Given the description of an element on the screen output the (x, y) to click on. 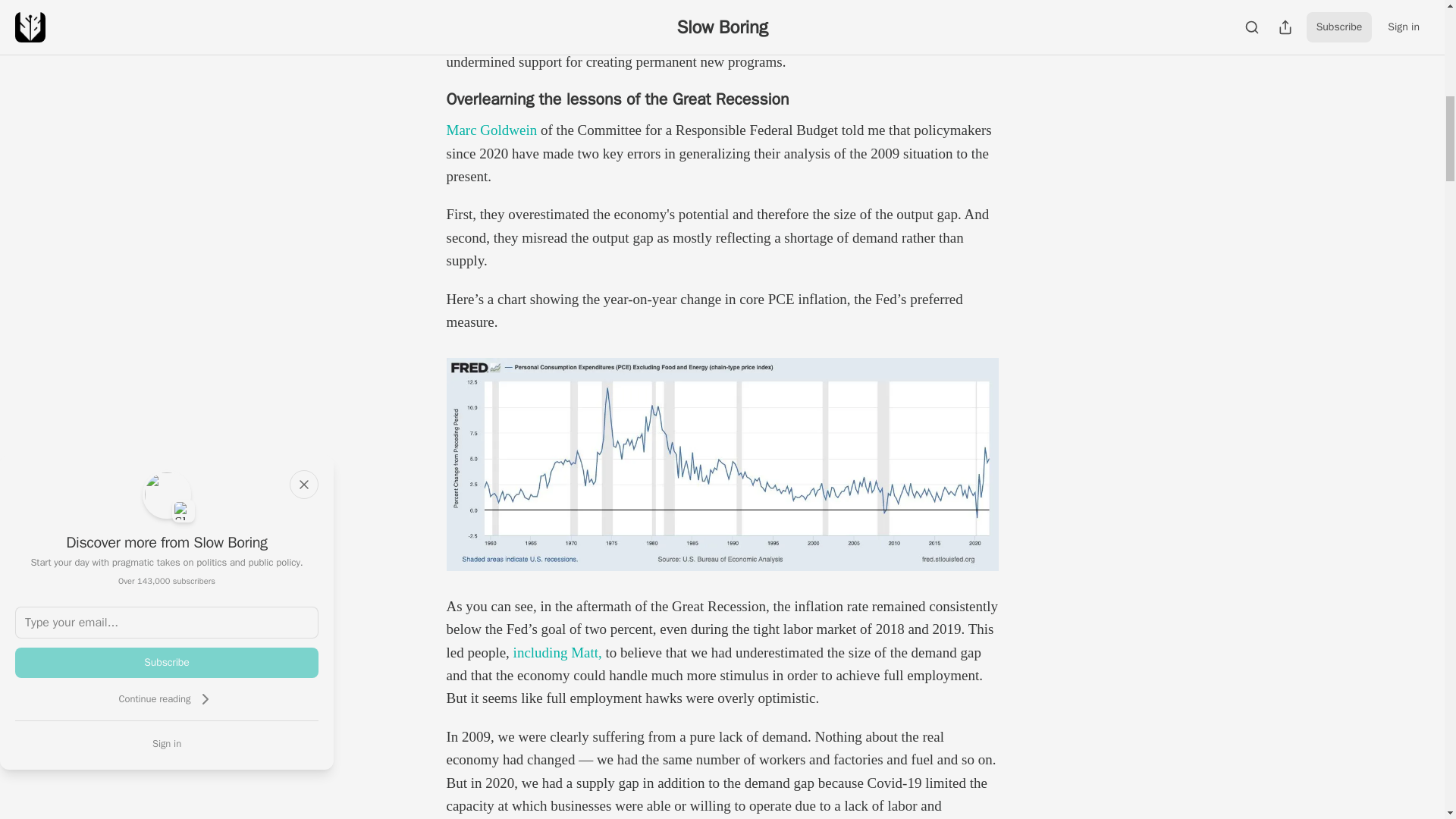
Sign in (166, 743)
Marc Goldwein (491, 130)
Subscribe (166, 662)
including Matt, (557, 652)
